Given the description of an element on the screen output the (x, y) to click on. 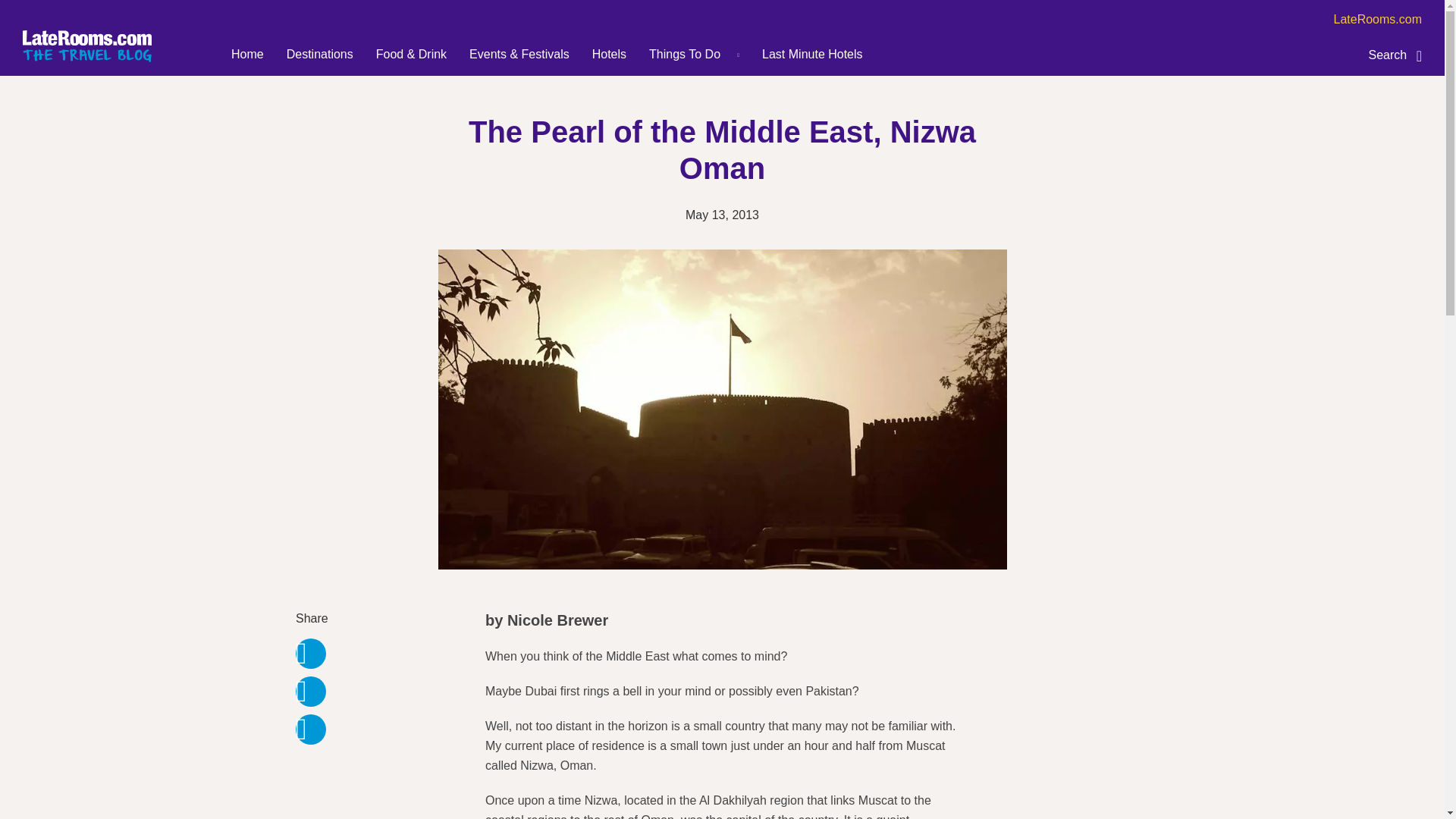
Destinations (319, 54)
Hotels (609, 54)
Things To Do (684, 54)
Last Minute Hotels (812, 54)
Home (247, 54)
The Travel Blog by LateRooms.com (87, 46)
LateRooms.com (1377, 19)
